Given the description of an element on the screen output the (x, y) to click on. 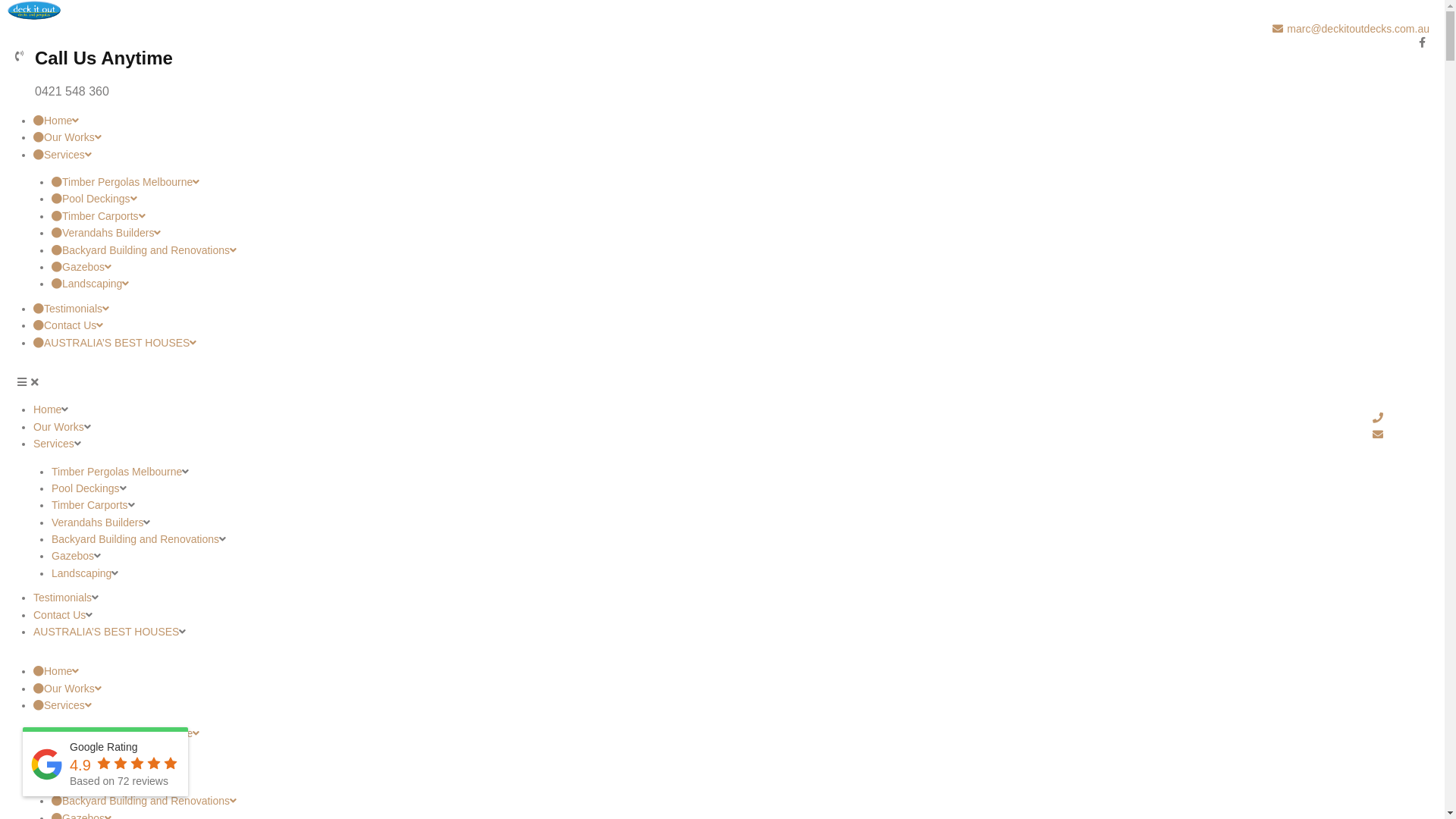
Services Element type: text (731, 704)
Timber Pergolas Melbourne Element type: text (116, 471)
Pool Deckings Element type: text (740, 749)
Contact Us Element type: text (59, 614)
Backyard Building and Renovations Element type: text (135, 539)
Backyard Building and Renovations Element type: text (740, 800)
Verandahs Builders Element type: text (740, 783)
Timber Carports Element type: text (89, 504)
Gazebos Element type: text (488, 266)
Services Element type: text (479, 154)
marc@deckitoutdecks.com.au Element type: text (722, 27)
Timber Pergolas Melbourne Element type: text (488, 181)
Testimonials Element type: text (479, 308)
Home Element type: text (47, 409)
Backyard Building and Renovations Element type: text (488, 249)
Home Element type: text (731, 670)
Gazebos Element type: text (72, 555)
Contact Us Element type: text (479, 324)
Landscaping Element type: text (81, 573)
Testimonials Element type: text (62, 597)
Our Works Element type: text (58, 426)
Timber Pergolas Melbourne Element type: text (740, 732)
Pool Deckings Element type: text (85, 488)
Services Element type: text (53, 443)
Deckitoutdecks Element type: hover (33, 9)
Home Element type: text (479, 120)
Verandahs Builders Element type: text (488, 232)
Our Works Element type: text (479, 136)
Timber Carports Element type: text (740, 766)
Our Works Element type: text (731, 688)
Landscaping Element type: text (488, 283)
Timber Carports Element type: text (488, 215)
Pool Deckings Element type: text (488, 198)
Verandahs Builders Element type: text (97, 522)
